Given the description of an element on the screen output the (x, y) to click on. 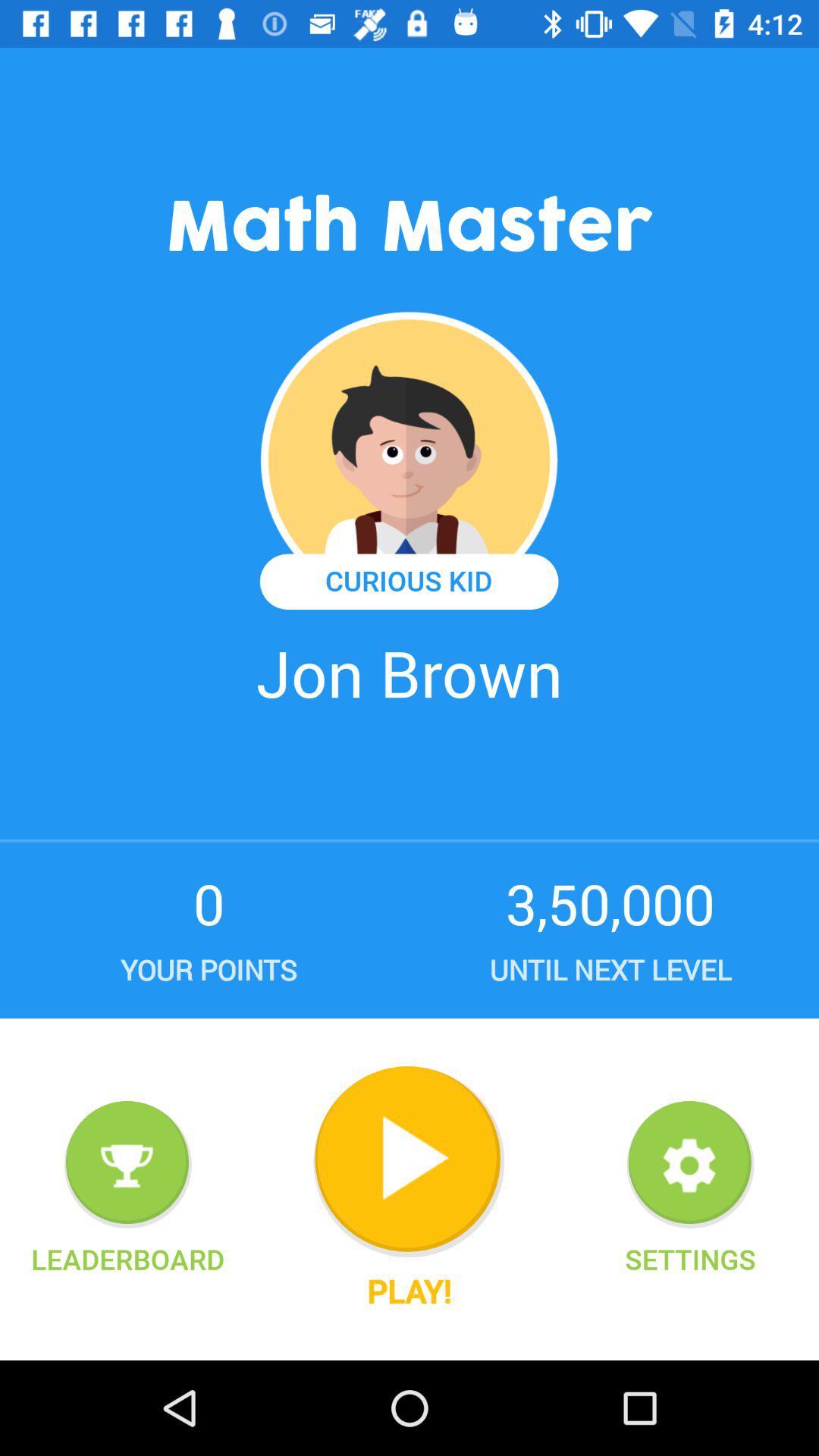
begin the game (408, 1161)
